Given the description of an element on the screen output the (x, y) to click on. 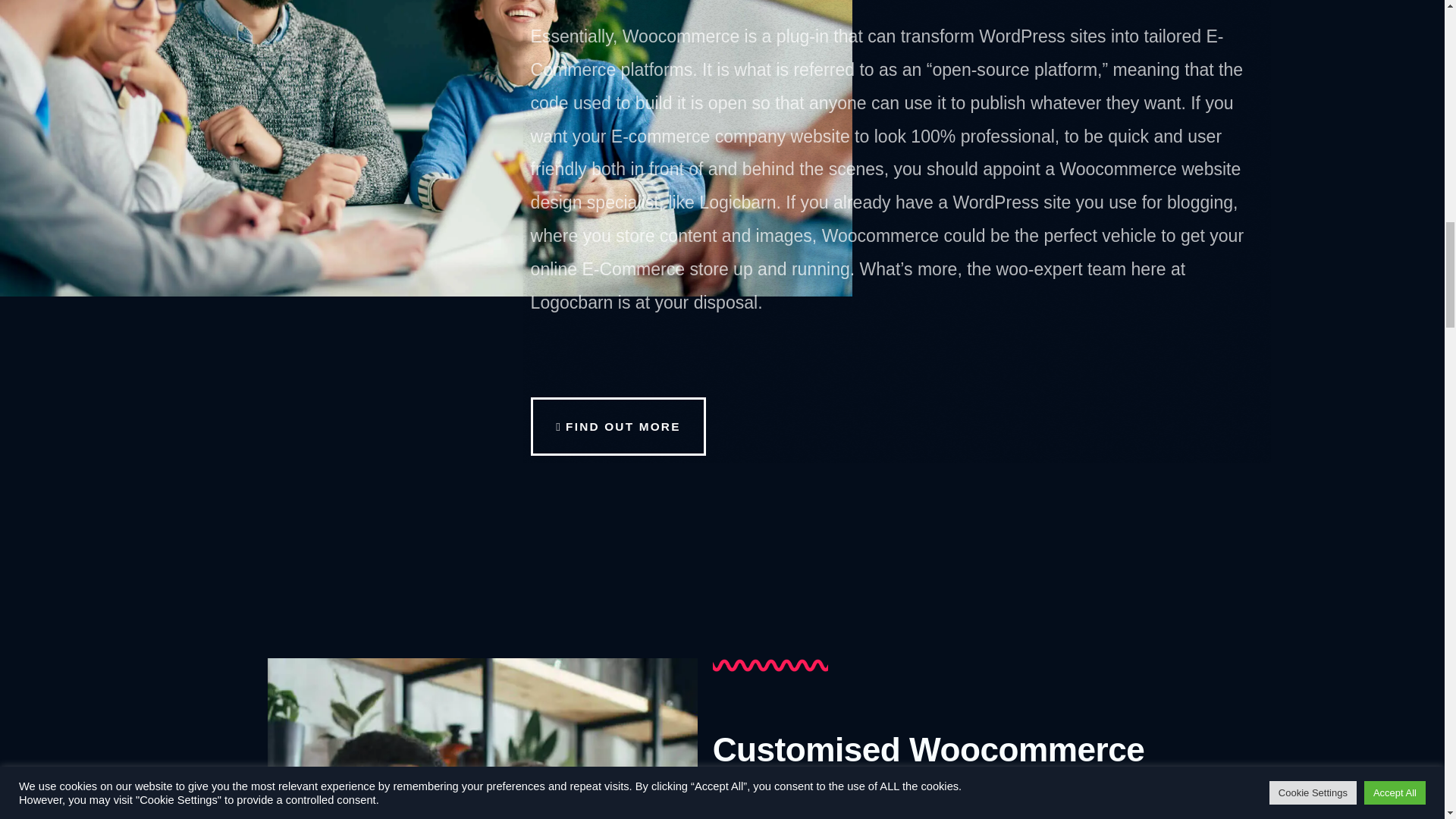
FIND OUT MORE (618, 426)
WooCommerce E-Commerce Design 4 (482, 738)
WooCommerce E-Commerce Design 2 (816, 665)
